Given the description of an element on the screen output the (x, y) to click on. 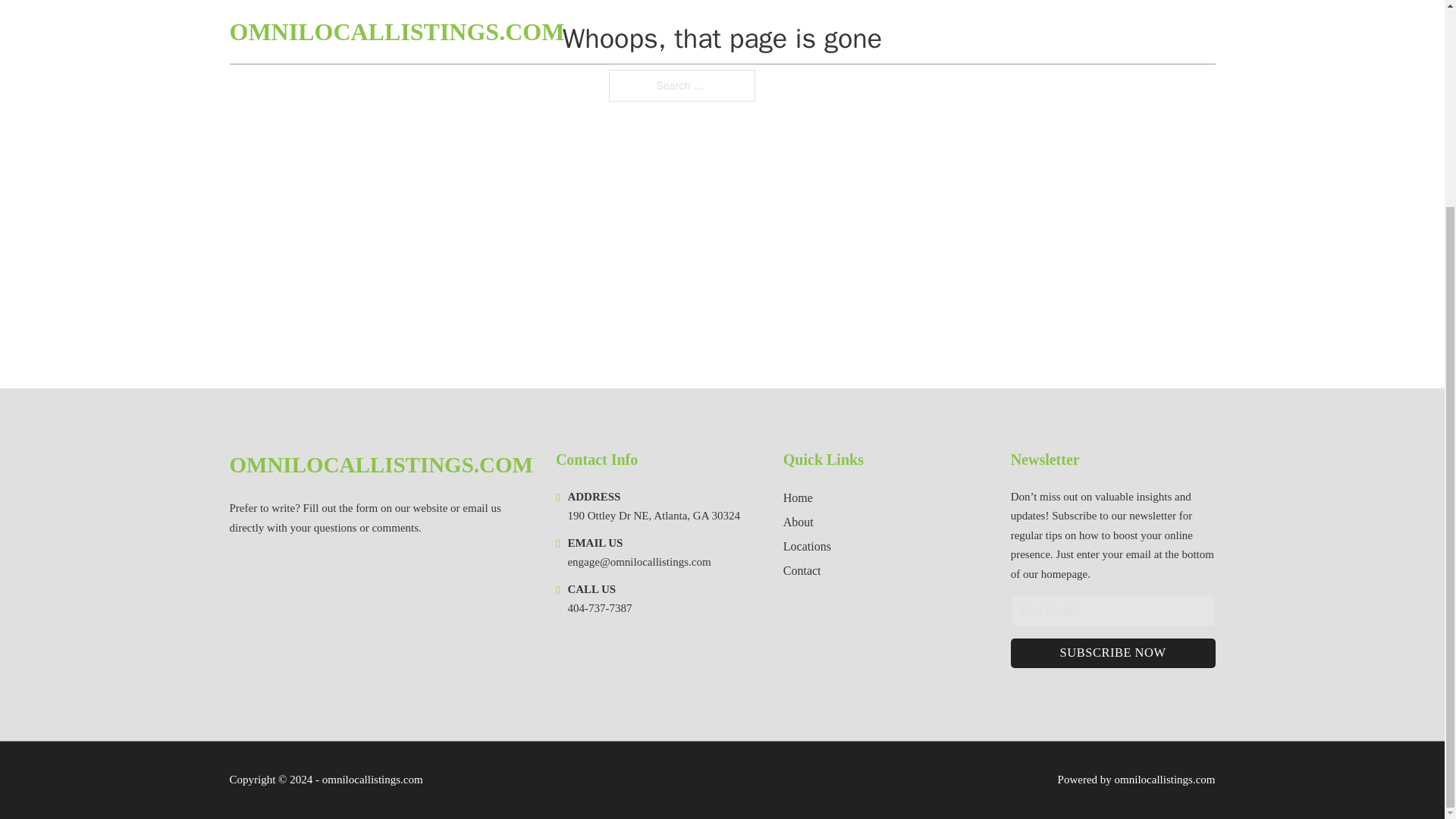
About (798, 521)
Contact (802, 570)
SUBSCRIBE NOW (1112, 653)
Locations (807, 546)
Home (797, 497)
404-737-7387 (599, 607)
OMNILOCALLISTINGS.COM (380, 465)
